Given the description of an element on the screen output the (x, y) to click on. 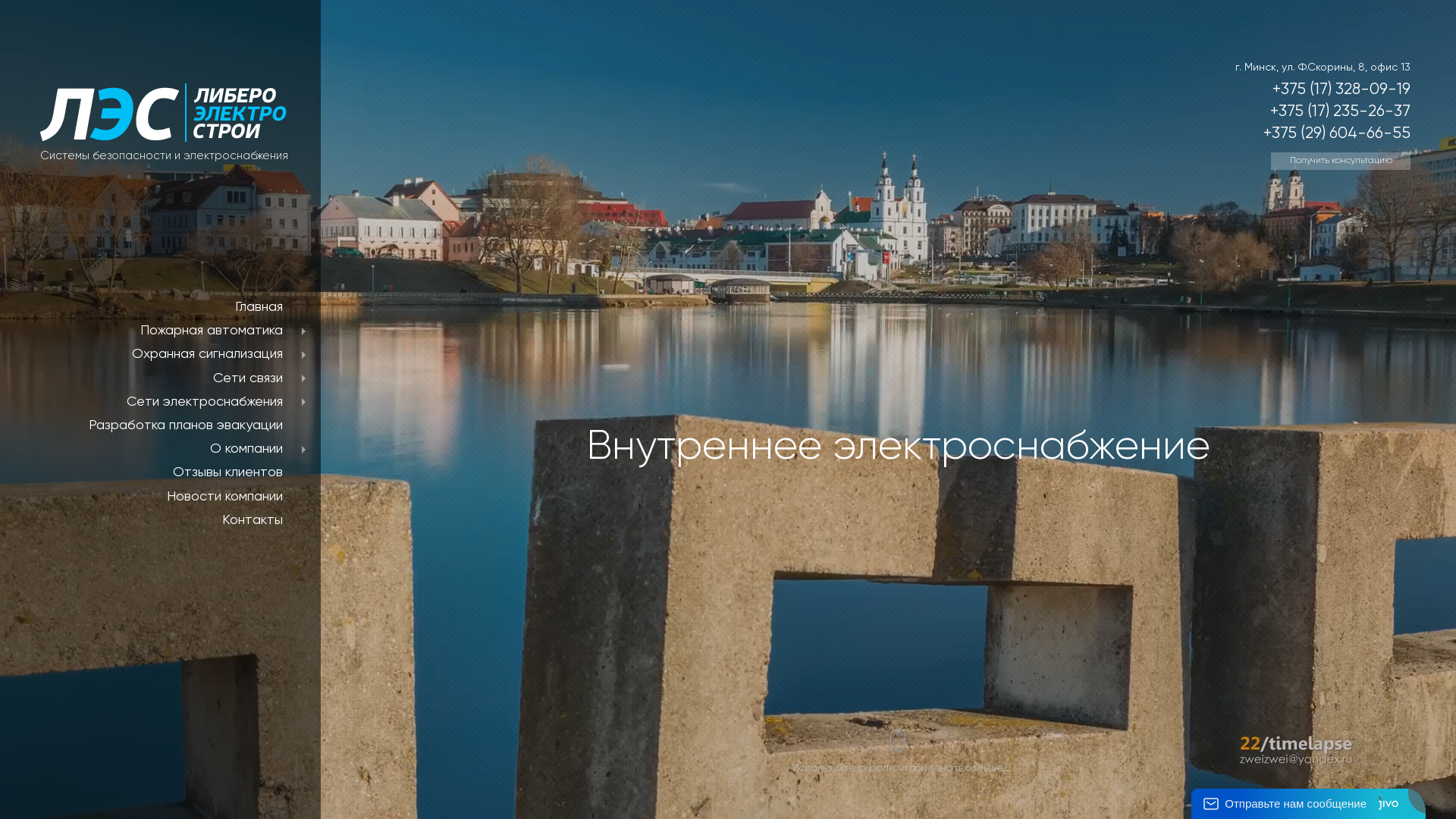
+375 (17) 328-09-19 Element type: text (1341, 89)
+375 (29) 604-66-55 Element type: text (1336, 133)
+375 (17) 235-26-37 Element type: text (1340, 111)
